Given the description of an element on the screen output the (x, y) to click on. 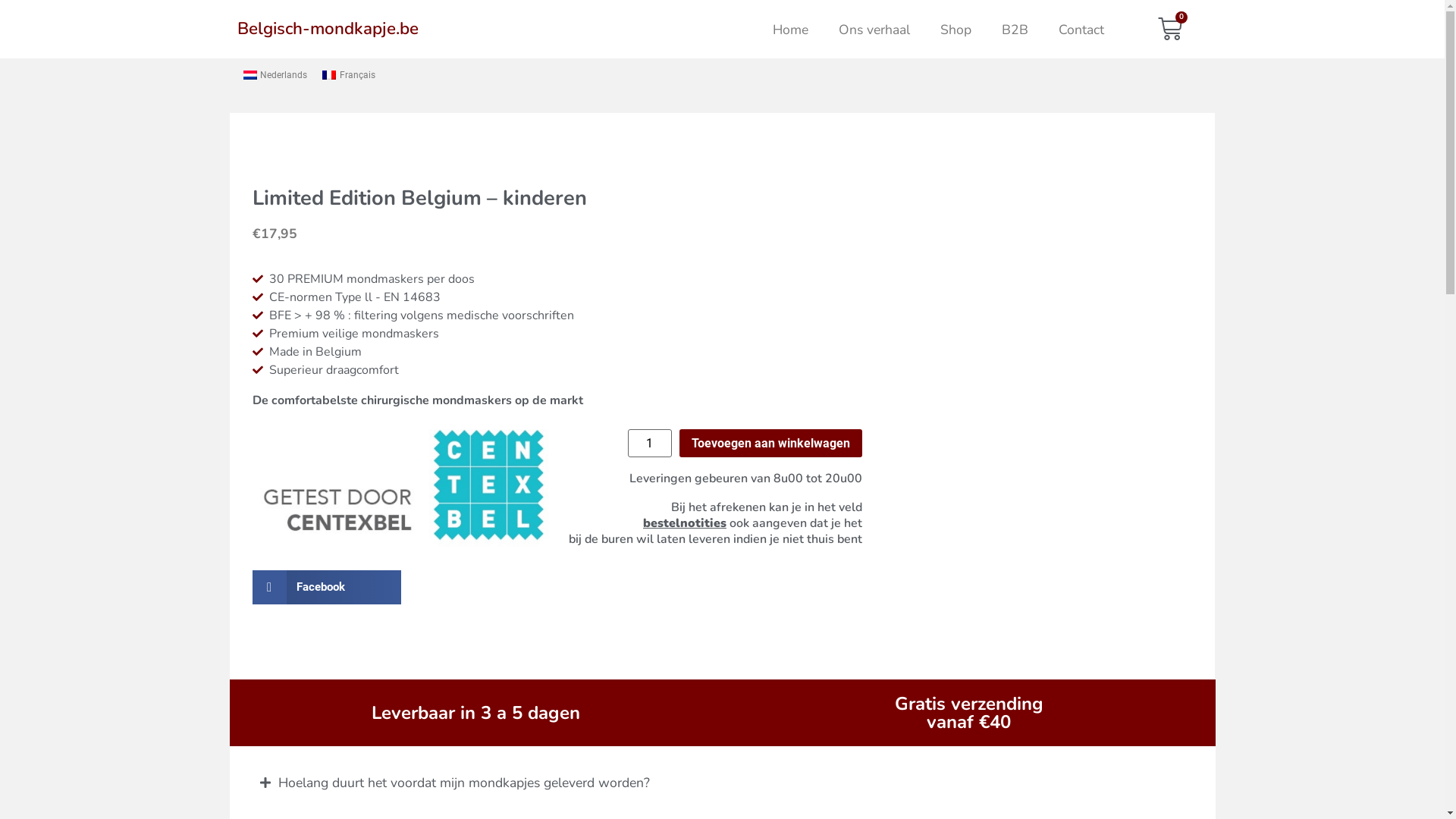
Shop Element type: text (955, 29)
B2B Element type: text (1014, 29)
Ons verhaal Element type: text (874, 29)
0 Element type: text (1169, 28)
Contact Element type: text (1081, 29)
Nederlands Element type: text (274, 74)
Home Element type: text (790, 29)
Hoelang duurt het voordat mijn mondkapjes geleverd worden? Element type: text (463, 782)
Belgisch-mondkapje.be Element type: text (326, 28)
Toevoegen aan winkelwagen Element type: text (770, 443)
Aantal Element type: hover (649, 443)
